Given the description of an element on the screen output the (x, y) to click on. 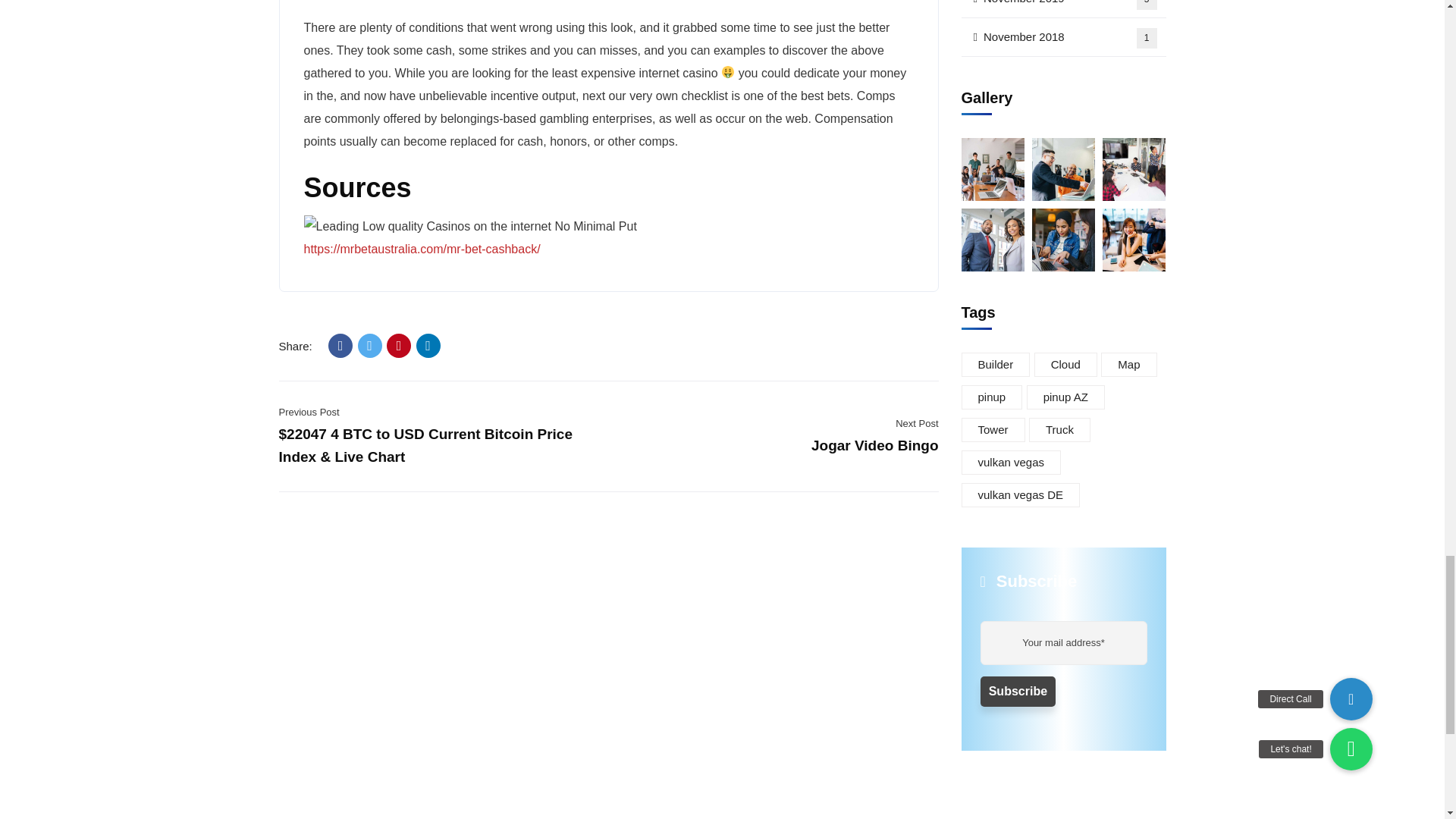
Facebook (340, 345)
Pinterest (398, 345)
Jogar Video Bingo (874, 445)
Twitter (369, 345)
Subscribe (1017, 691)
LinkedIn (428, 345)
